Given the description of an element on the screen output the (x, y) to click on. 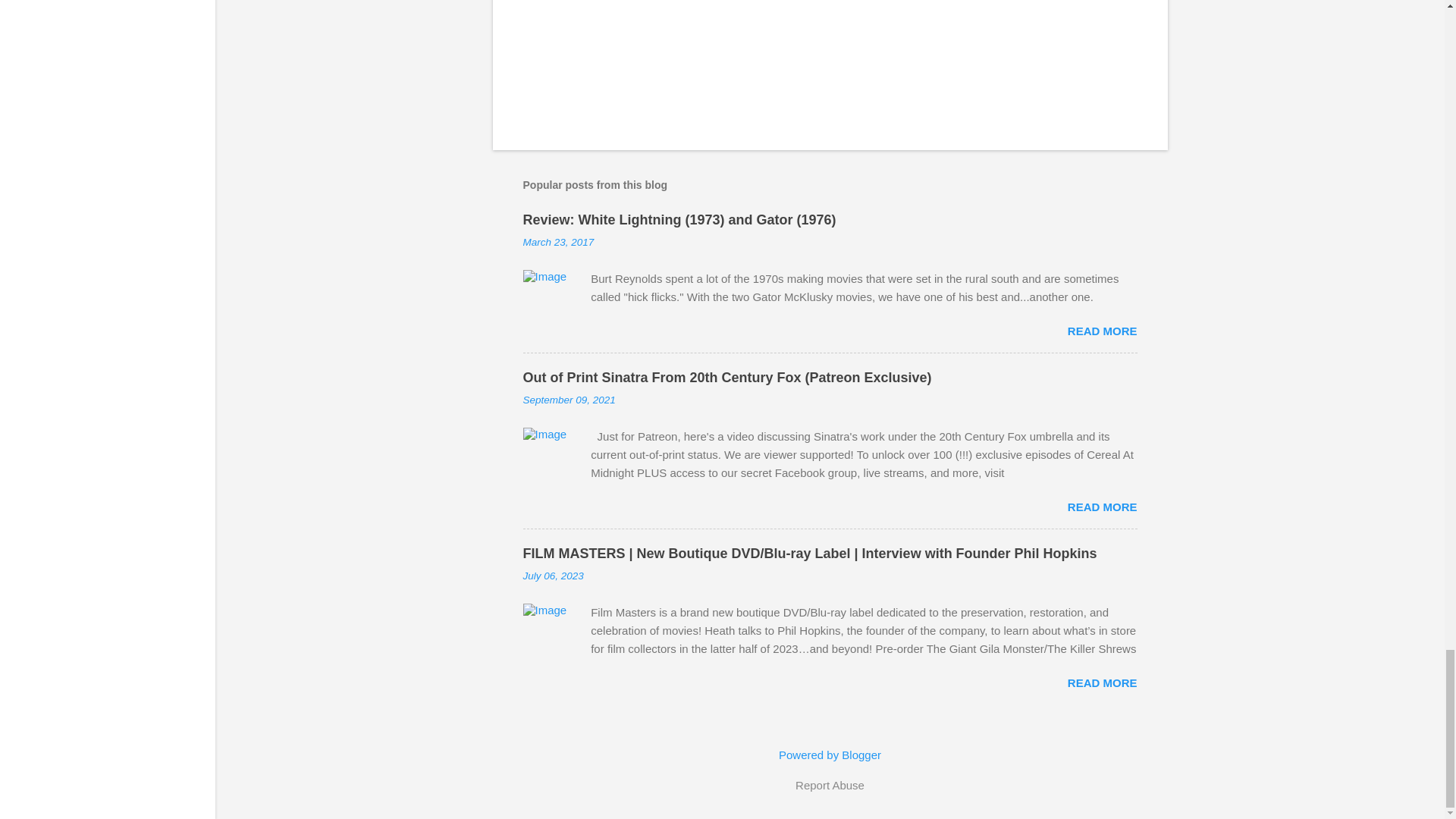
September 09, 2021 (568, 399)
March 23, 2017 (558, 242)
READ MORE (1102, 330)
permanent link (558, 242)
